Given the description of an element on the screen output the (x, y) to click on. 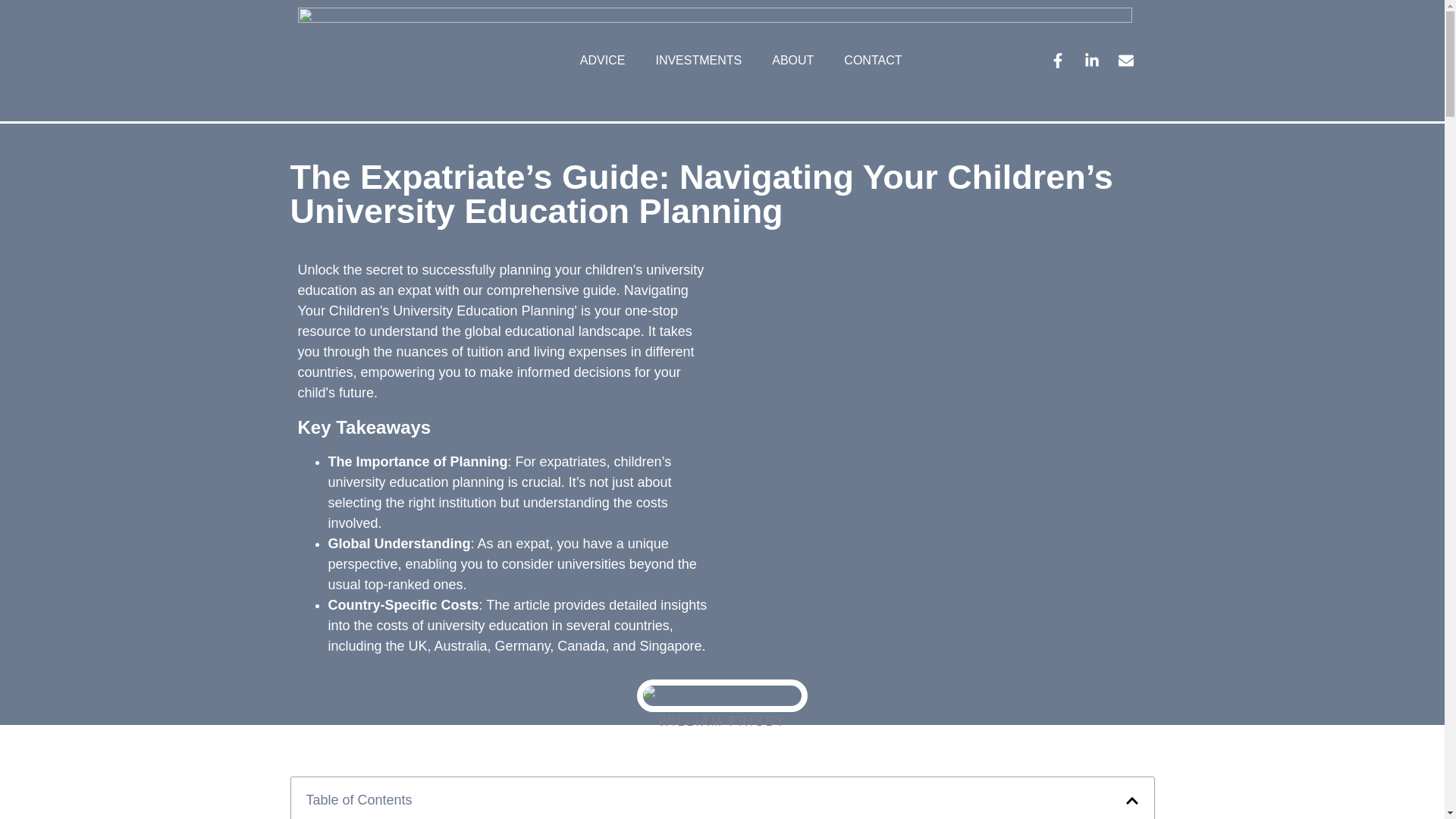
INVESTMENTS (698, 60)
ABOUT (792, 60)
CONTACT (872, 60)
ADVICE (602, 60)
